Given the description of an element on the screen output the (x, y) to click on. 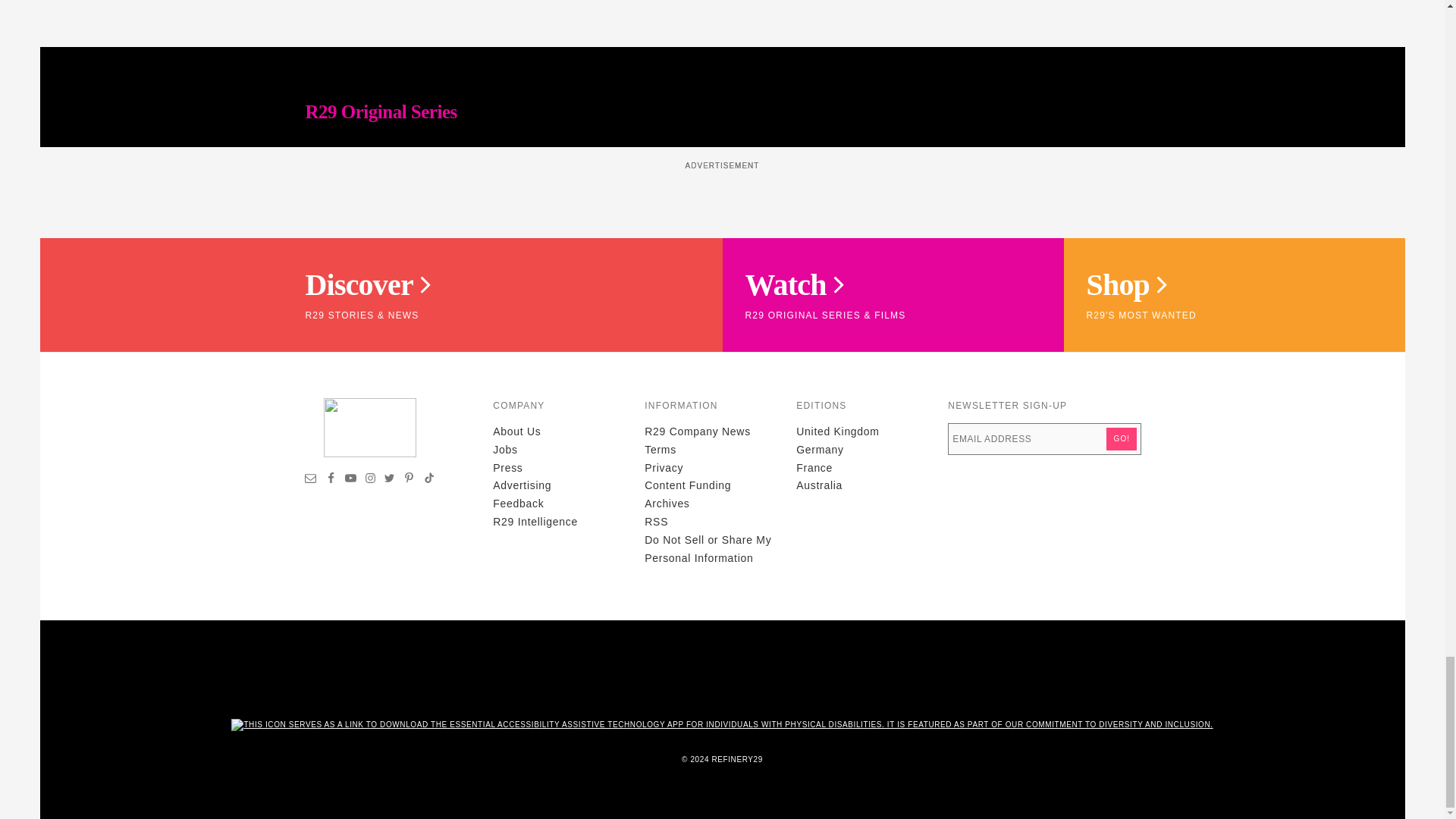
Sign up for newsletters (310, 480)
Visit Refinery29 on YouTube (350, 480)
Visit Refinery29 on TikTok (428, 480)
